Given the description of an element on the screen output the (x, y) to click on. 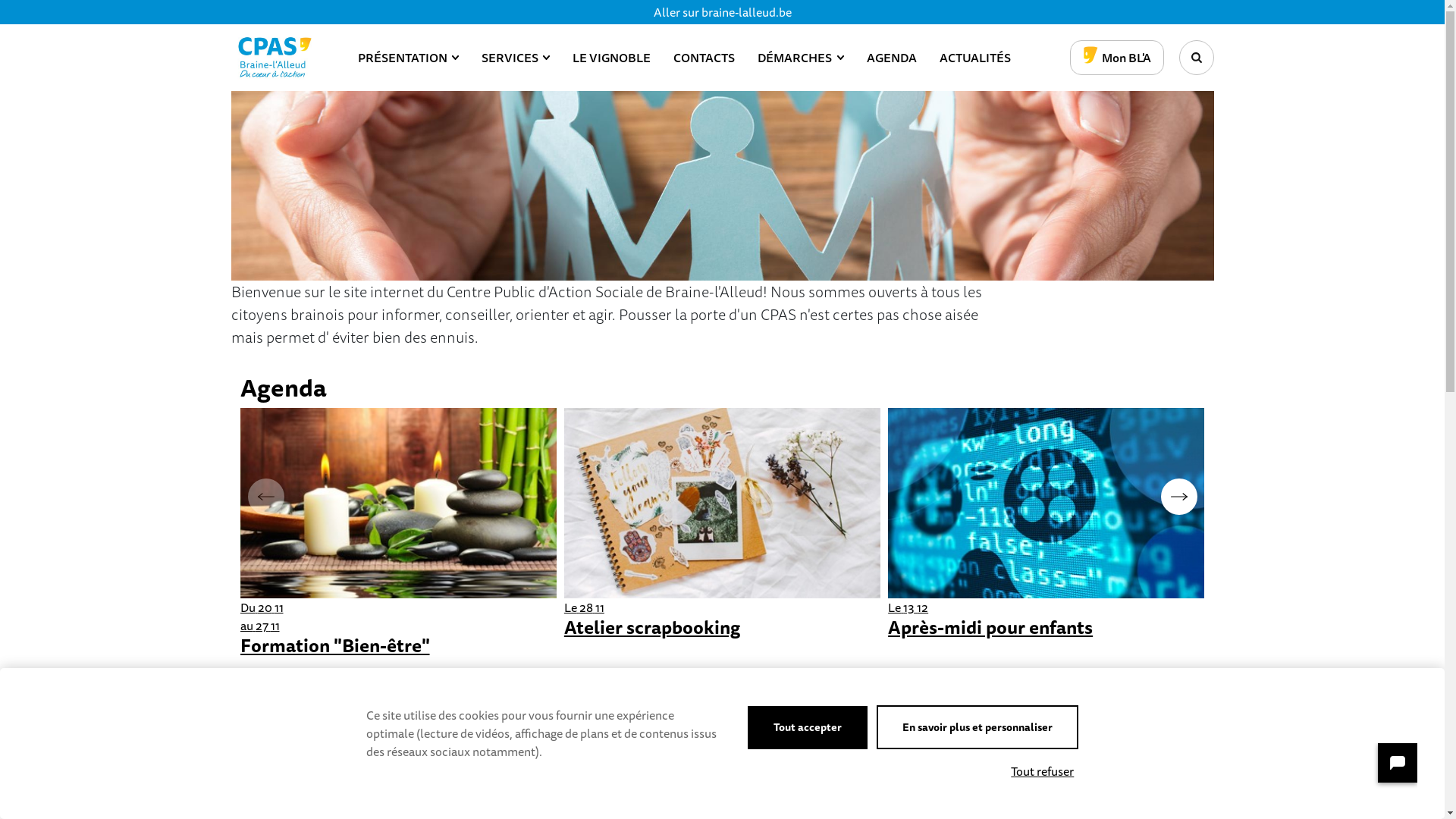
Tout accepter Element type: text (807, 727)
CPAS Element type: hover (273, 57)
Rechercher Element type: text (1195, 57)
Mon BL'A Element type: text (1116, 57)
Tout refuser Element type: text (1042, 771)
SERVICES Element type: text (515, 57)
CPAS Element type: hover (273, 57)
braine-lalleud Element type: hover (1388, 771)
CONTACTS Element type: text (703, 57)
AGENDA Element type: text (891, 57)
Le 28 11
Atelier scrapbooking Element type: text (722, 522)
LE VIGNOBLE Element type: text (611, 57)
Aller sur braine-lalleud.be Element type: text (722, 11)
En savoir plus et personnaliser Element type: text (977, 727)
